Given the description of an element on the screen output the (x, y) to click on. 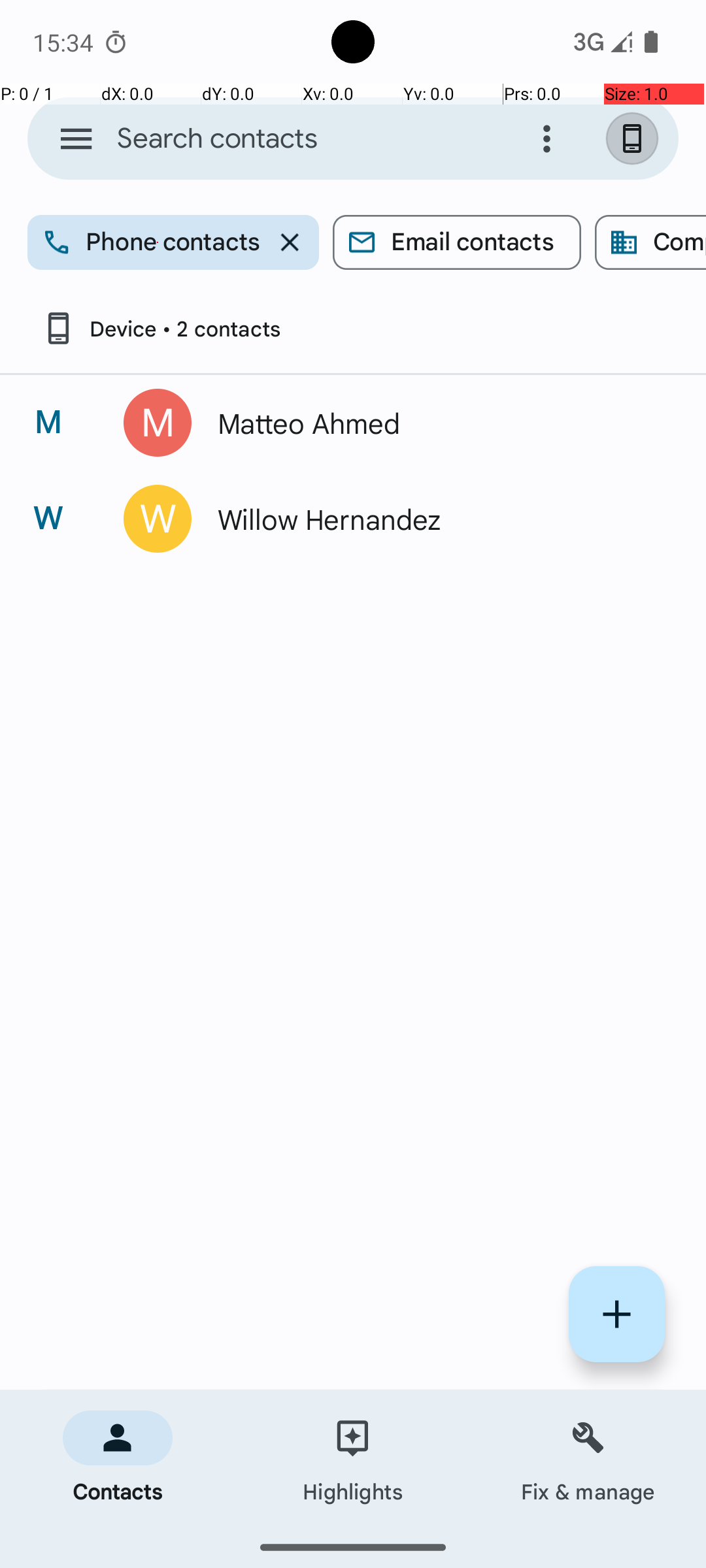
Device • 2 contacts Element type: android.widget.TextView (161, 328)
Matteo Ahmed Element type: android.widget.TextView (434, 422)
Willow Hernandez Element type: android.widget.TextView (434, 518)
